Given the description of an element on the screen output the (x, y) to click on. 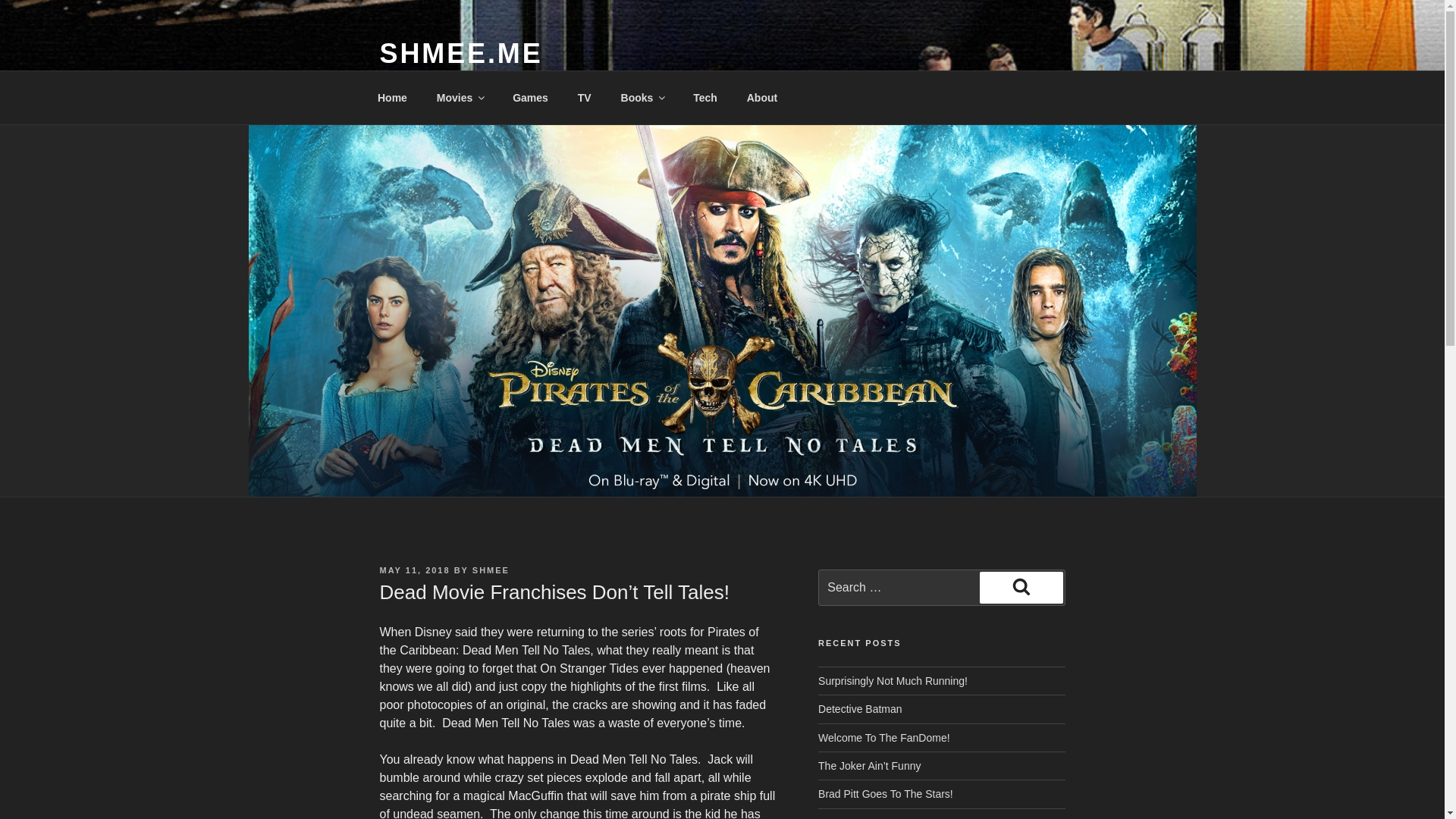
SHMEE (490, 569)
Books (642, 97)
Search (1020, 587)
Welcome To The FanDome! (884, 737)
Detective Batman (860, 708)
Brad Pitt Goes To The Stars! (885, 793)
About (761, 97)
Tech (704, 97)
MAY 11, 2018 (413, 569)
TV (584, 97)
